Given the description of an element on the screen output the (x, y) to click on. 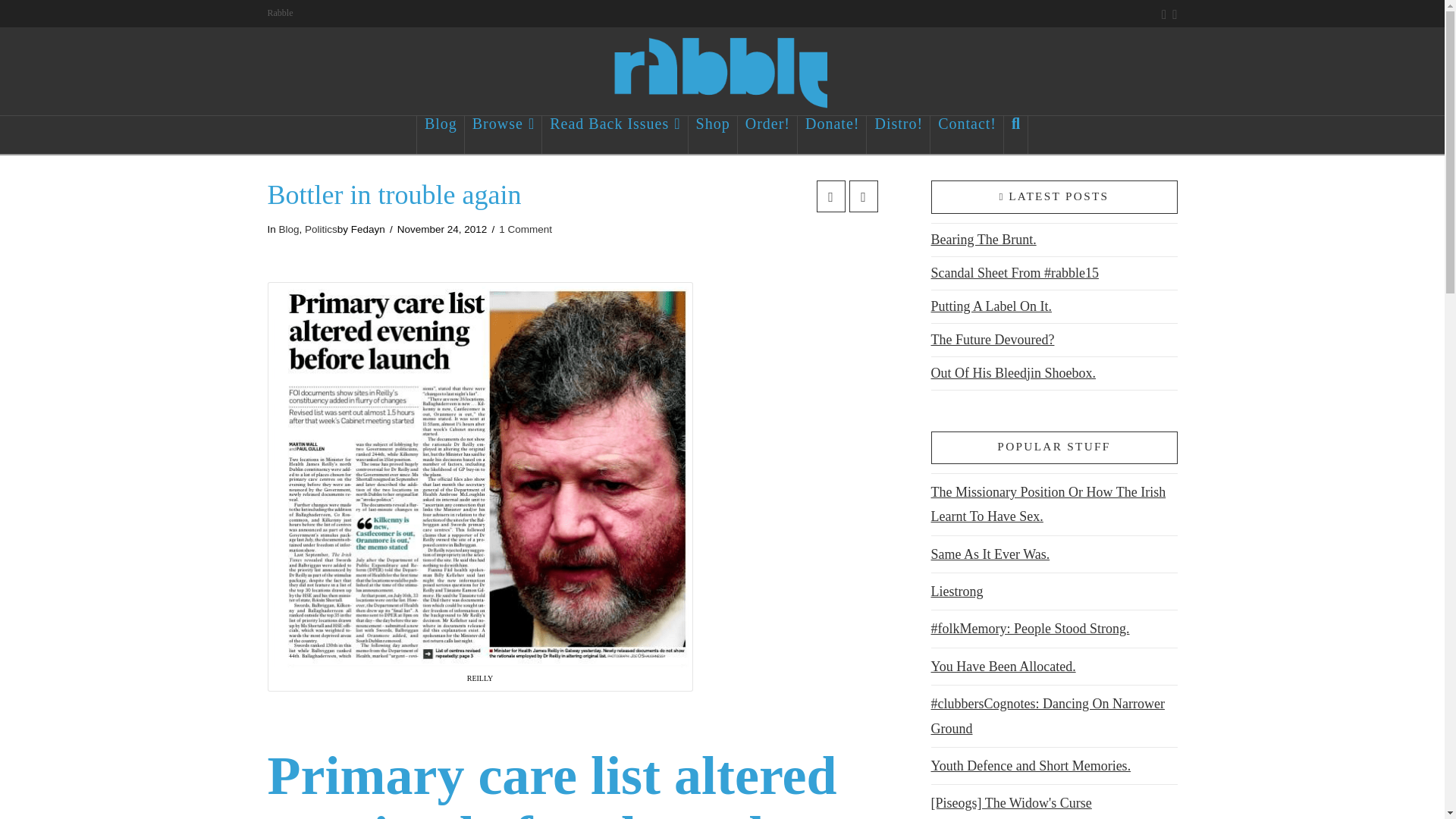
Order! (767, 134)
Blog (440, 134)
Distro! (898, 134)
Browse (502, 134)
Donate! (831, 134)
Read Back Issues (614, 134)
Shop (713, 134)
Contact! (967, 134)
